Given the description of an element on the screen output the (x, y) to click on. 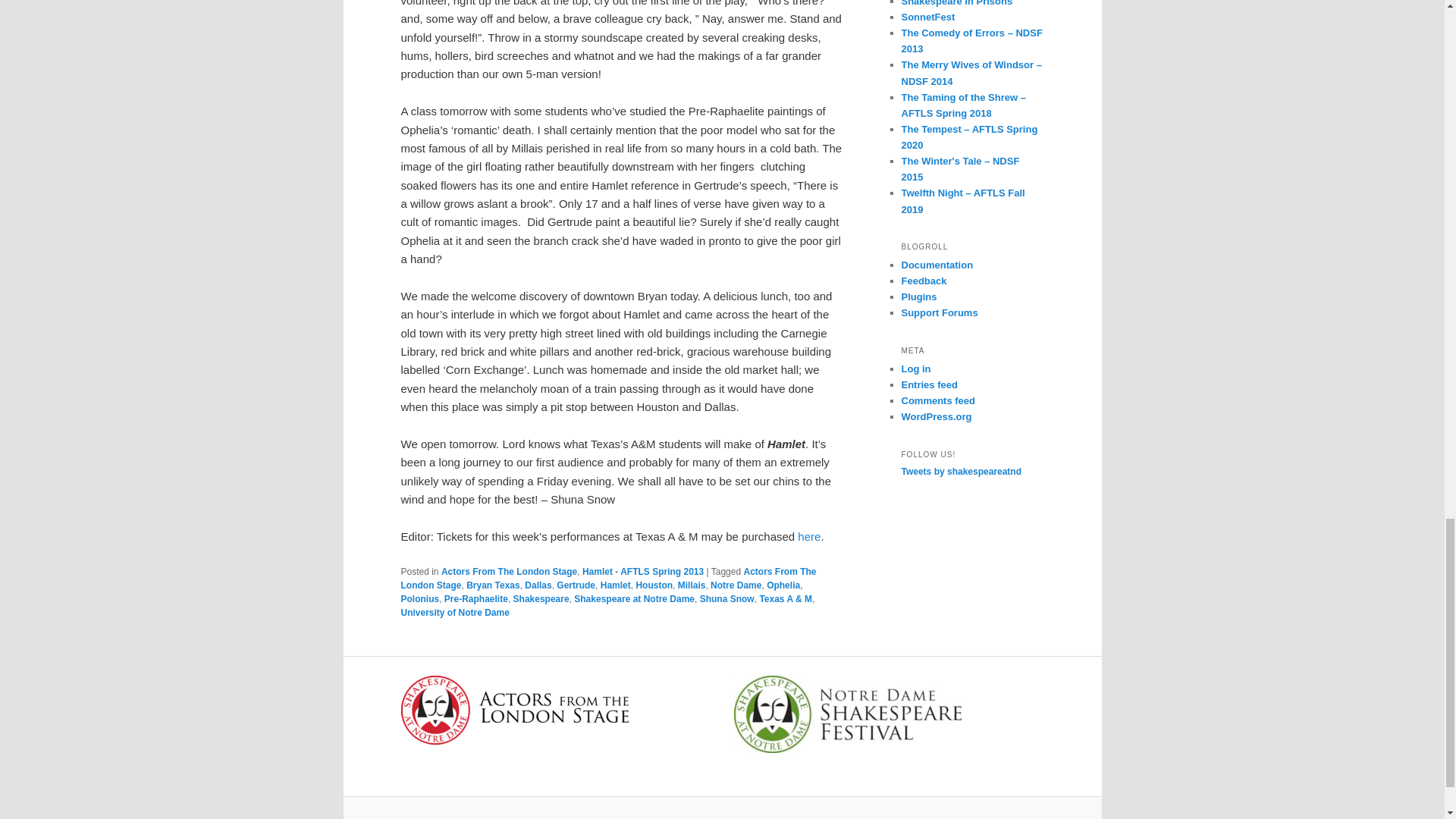
Actors From The London Stage (508, 571)
Shuna Snow (727, 598)
Shakespeare (541, 598)
Shakespeare at Notre Dame (633, 598)
Millais (692, 584)
Ophelia (783, 584)
Bryan Texas (492, 584)
Dallas (537, 584)
Hamlet - AFTLS Spring 2013 (642, 571)
Notre Dame (735, 584)
University of Notre Dame (454, 612)
Actors From The London Stage (607, 578)
Pre-Raphaelite (476, 598)
Hamlet (614, 584)
Houston (653, 584)
